Given the description of an element on the screen output the (x, y) to click on. 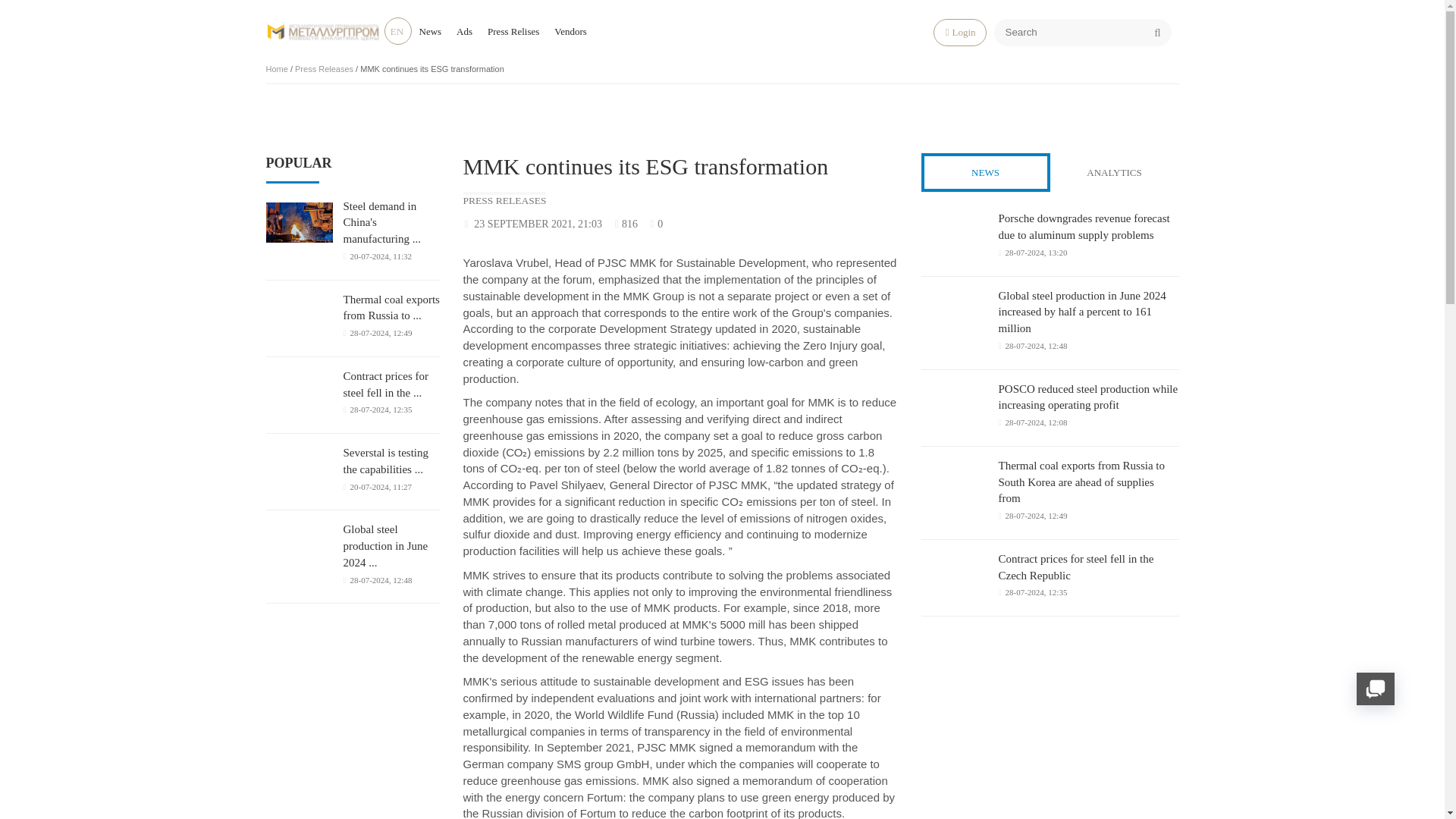
Good (878, 223)
Ads (464, 30)
Home (275, 68)
Thermal coal exports from Russia to ... (390, 308)
Fair (864, 223)
Press Relises (512, 30)
News (430, 30)
Press Releases (324, 68)
Useless (838, 223)
Excellent (889, 223)
